Given the description of an element on the screen output the (x, y) to click on. 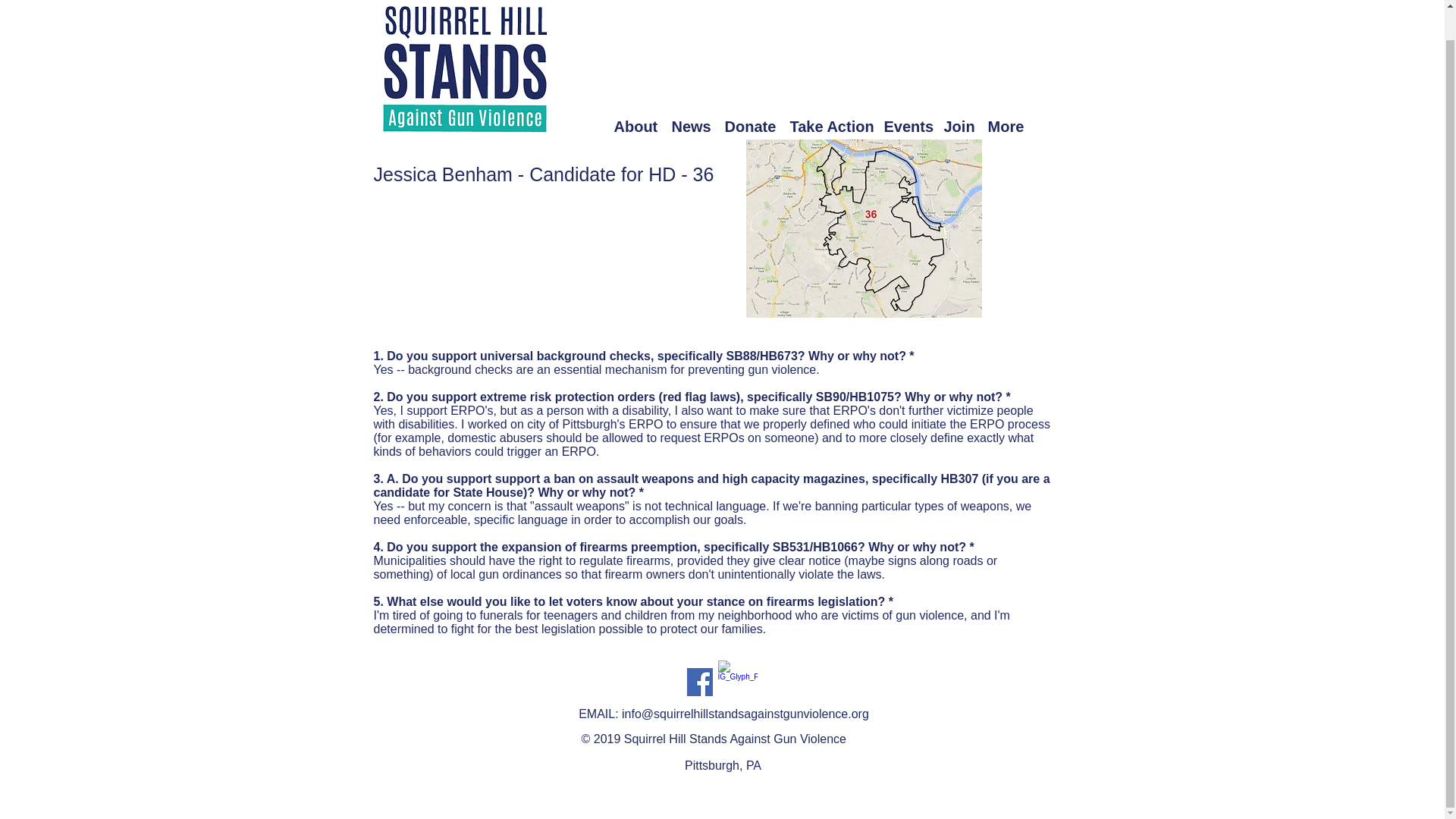
Take Action (829, 94)
Join (957, 94)
Donate (750, 94)
About (635, 94)
News (690, 94)
Events (906, 94)
